Given the description of an element on the screen output the (x, y) to click on. 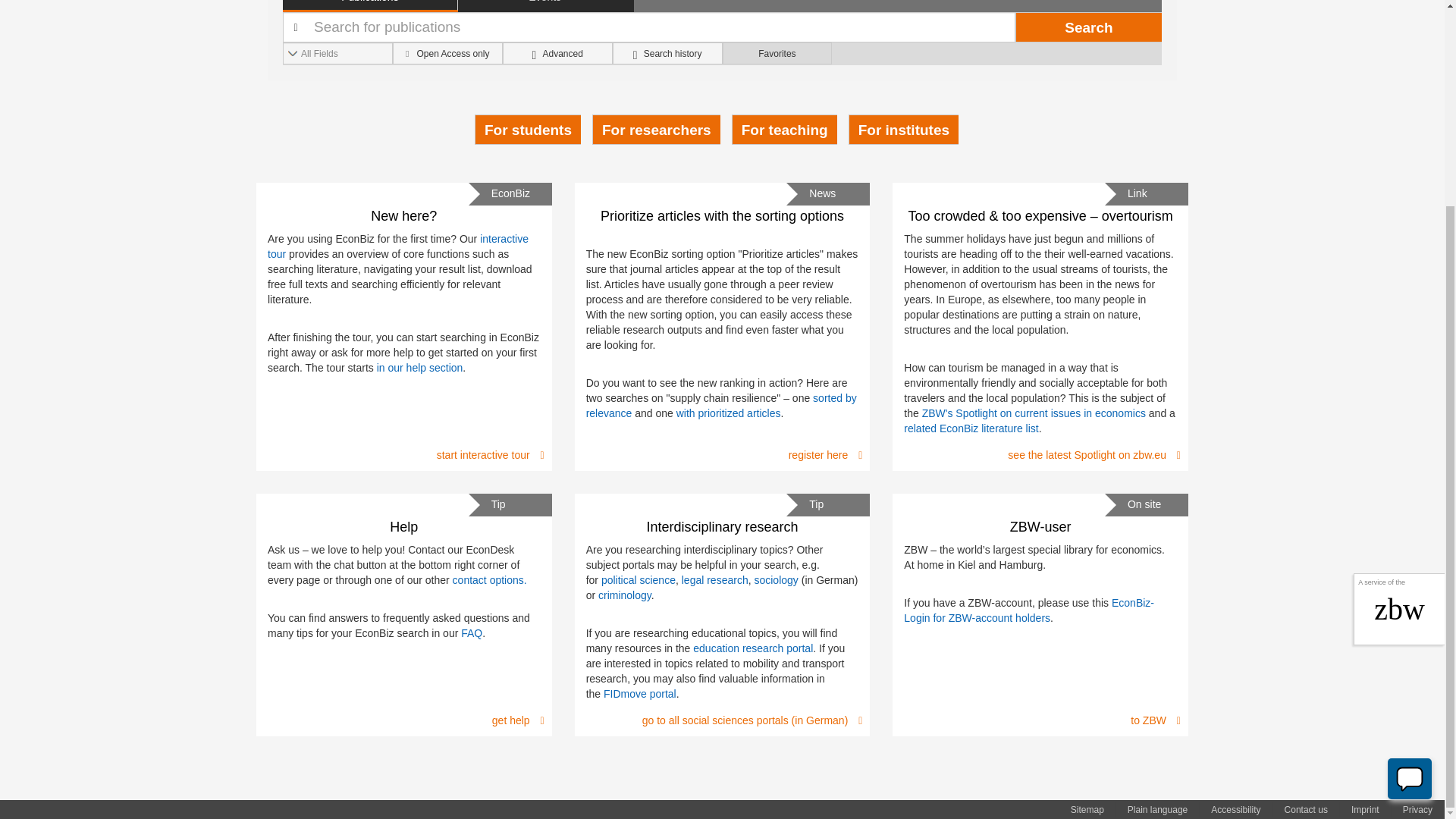
Plain language (1156, 809)
Search history (667, 53)
Sitemap (1087, 809)
Chat offline (1409, 513)
Publications (370, 6)
open access and free of charge publications (447, 53)
Events (545, 6)
Privacy (1417, 809)
Favorites (776, 53)
Accessibility (1234, 809)
Search (1087, 27)
Chat offline (1409, 513)
Contact us (1305, 809)
Advanced (557, 53)
Imprint (1364, 809)
